Given the description of an element on the screen output the (x, y) to click on. 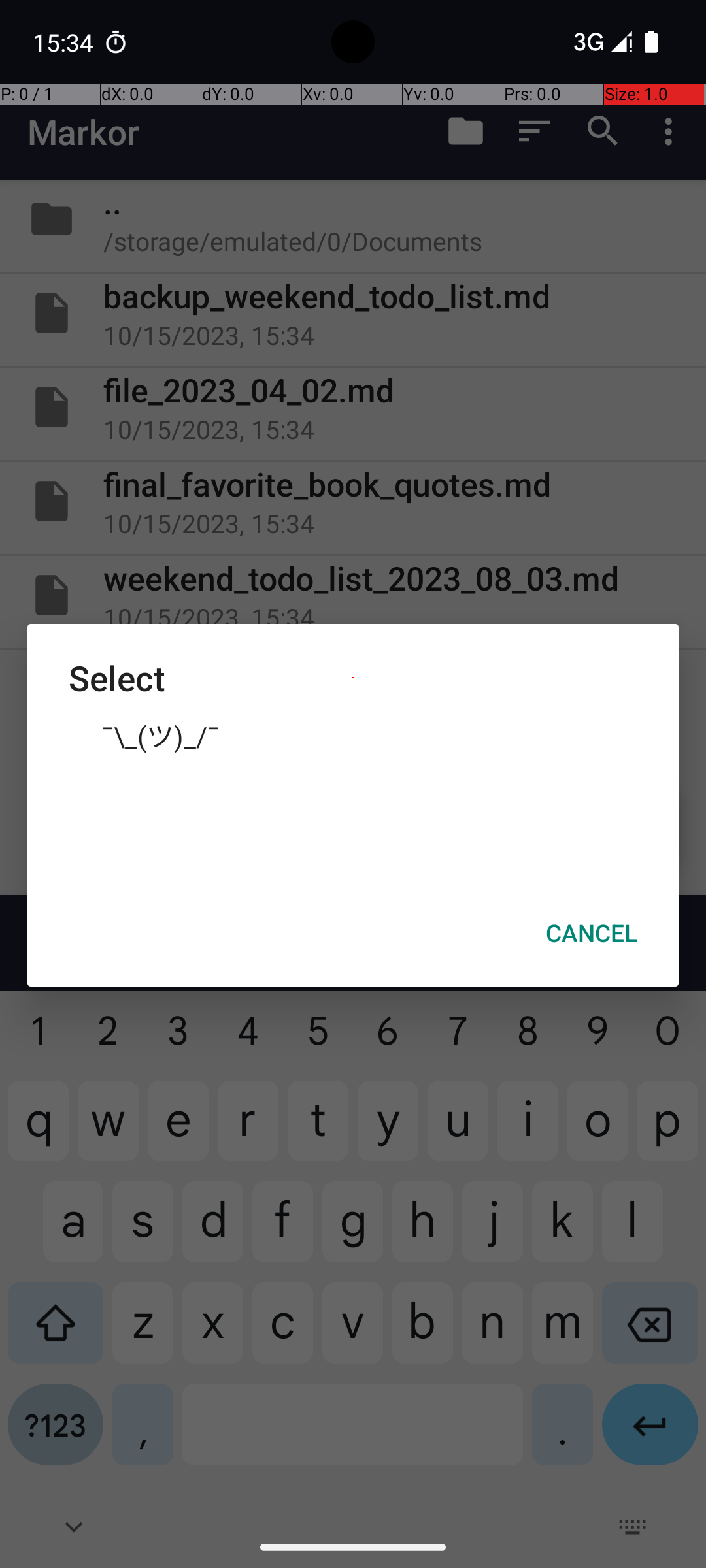
     ¯\_(ツ)_/¯      Element type: android.widget.TextView (352, 734)
